Given the description of an element on the screen output the (x, y) to click on. 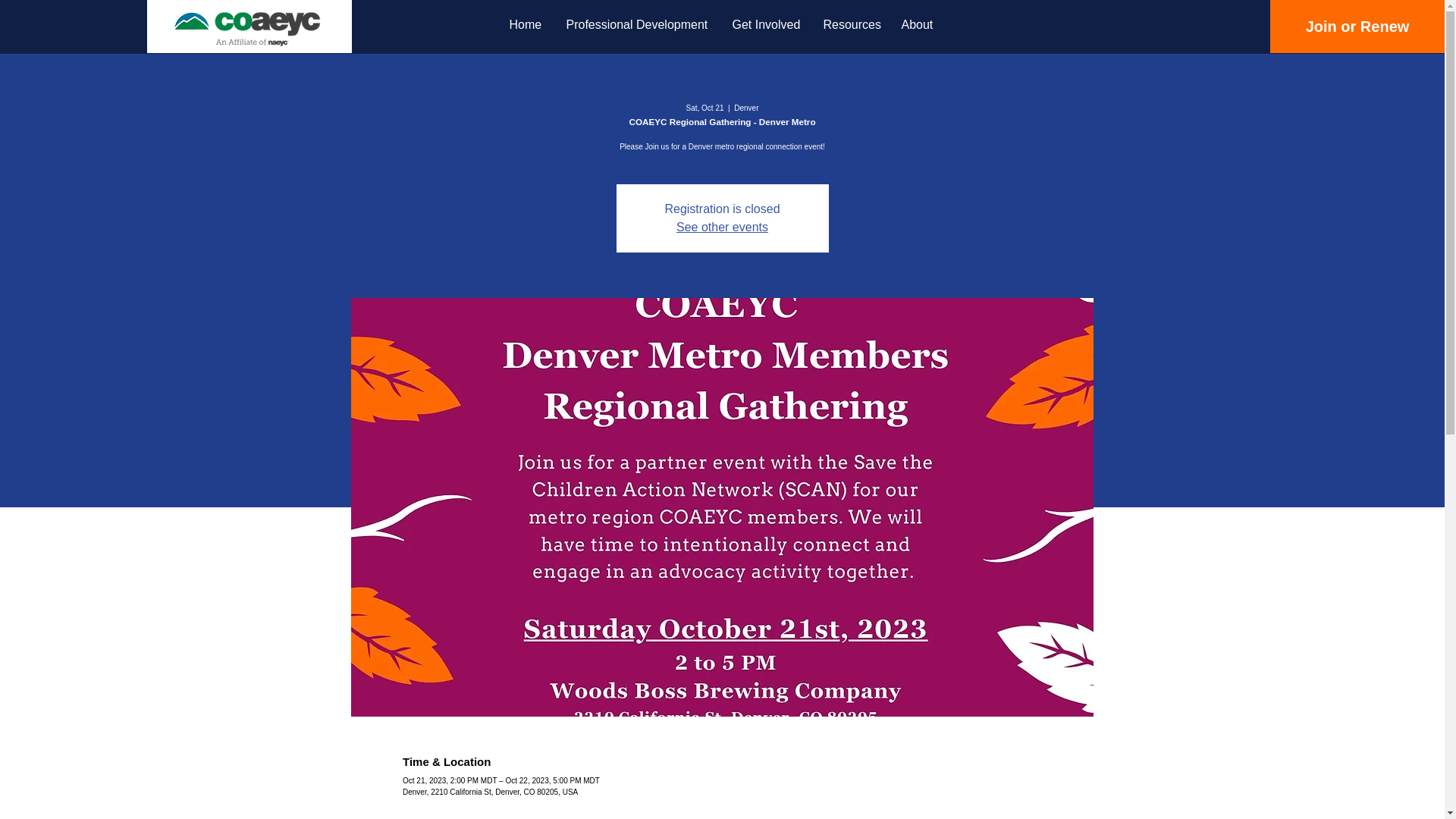
About (918, 24)
See other events (722, 226)
logo.png (244, 25)
Home (525, 24)
